Given the description of an element on the screen output the (x, y) to click on. 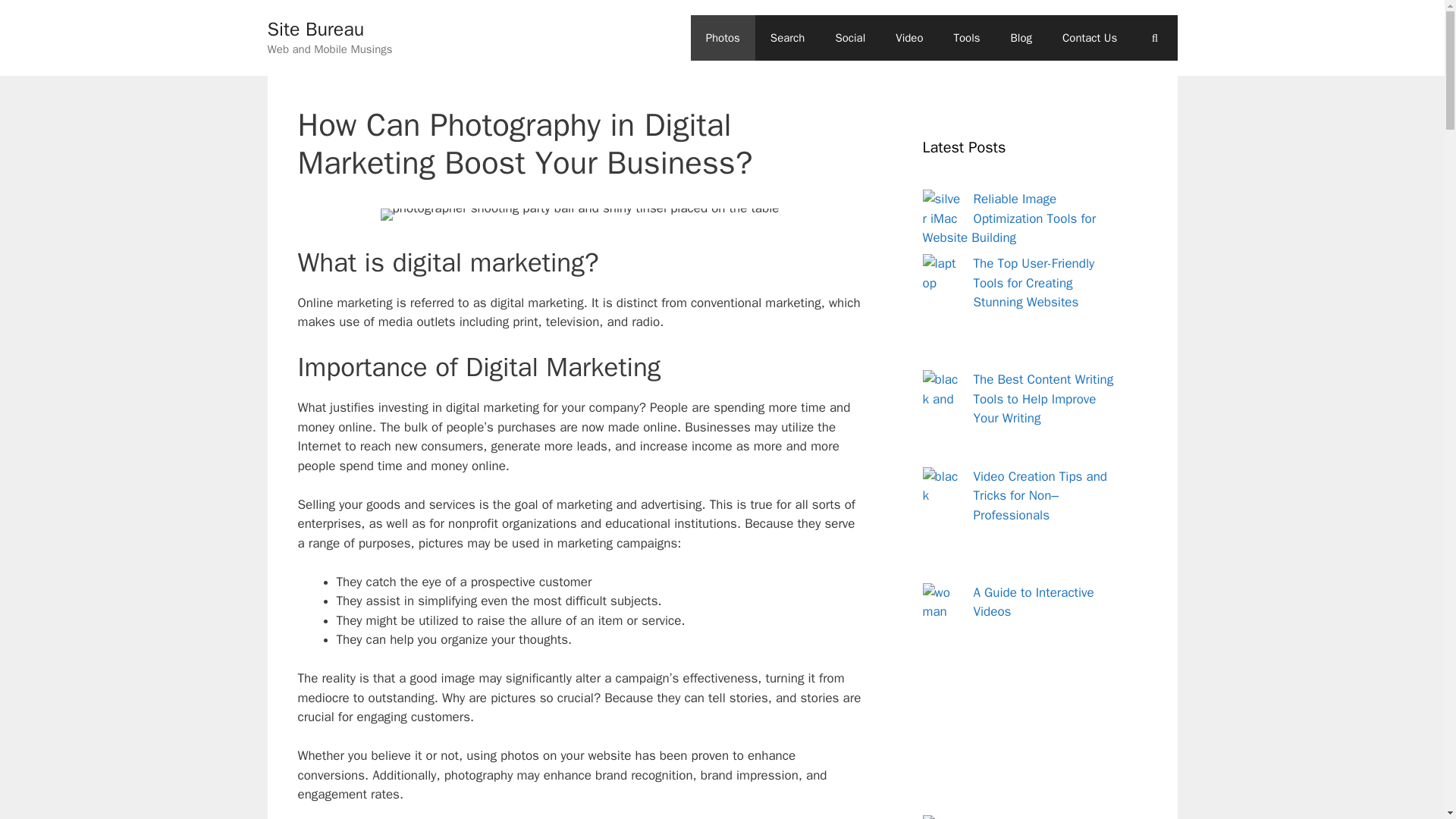
Blog (1020, 37)
Why Should Videos Be Part of Your Content Strategy? (1036, 817)
The Top User-Friendly Tools for Creating Stunning Websites (1034, 282)
A Guide to Interactive Videos (1034, 601)
Video (908, 37)
Photos (722, 37)
The Best Content Writing Tools to Help Improve Your Writing (1043, 398)
Tools (965, 37)
Reliable Image Optimization Tools for Website Building (1008, 217)
Search (788, 37)
Contact Us (1089, 37)
Social (849, 37)
Site Bureau (315, 28)
